Given the description of an element on the screen output the (x, y) to click on. 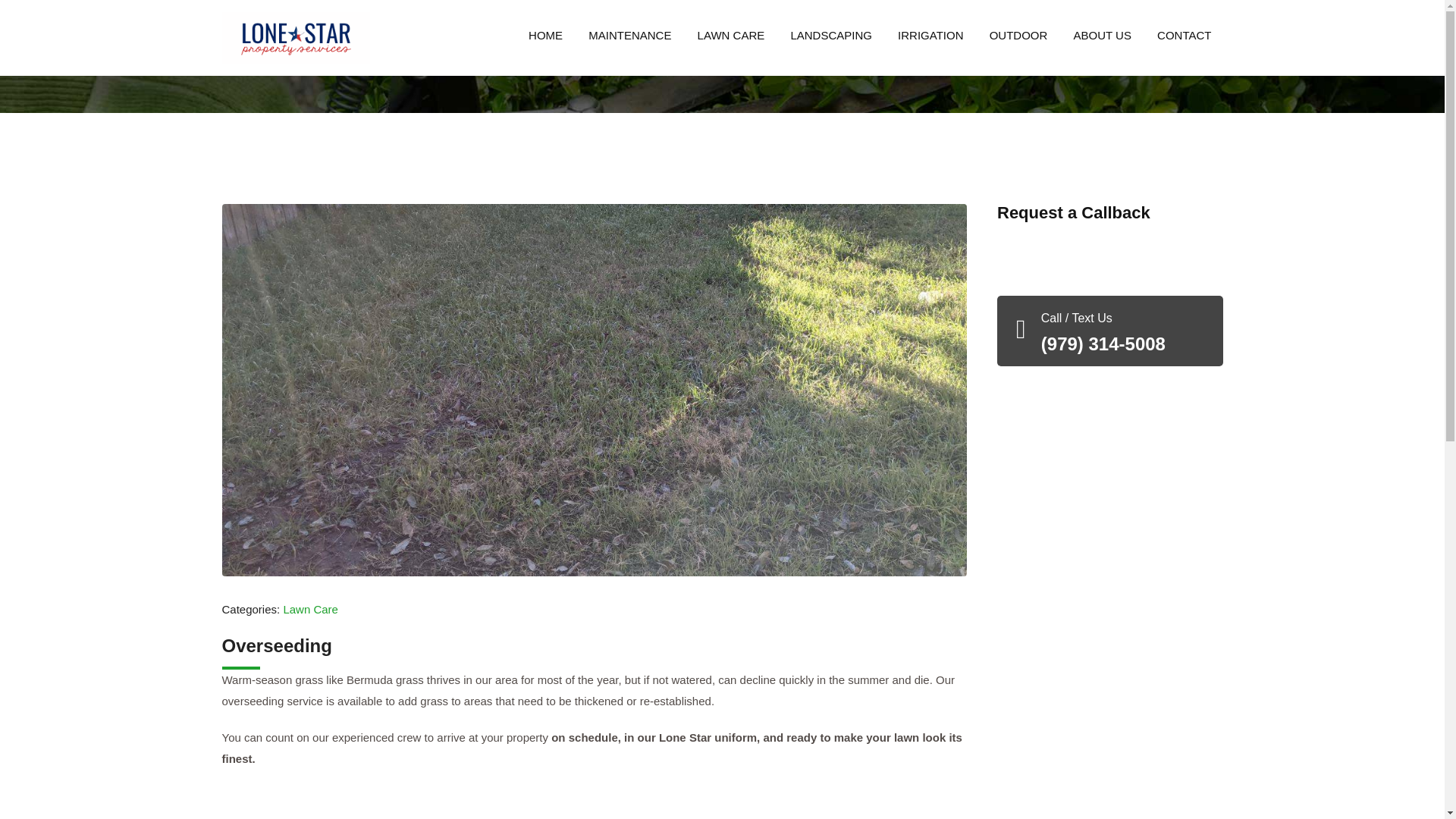
LANDSCAPING (830, 35)
MAINTENANCE (629, 35)
IRRIGATION (930, 35)
LAWN CARE (730, 35)
OUTDOOR (1018, 35)
ABOUT US (1102, 35)
